Given the description of an element on the screen output the (x, y) to click on. 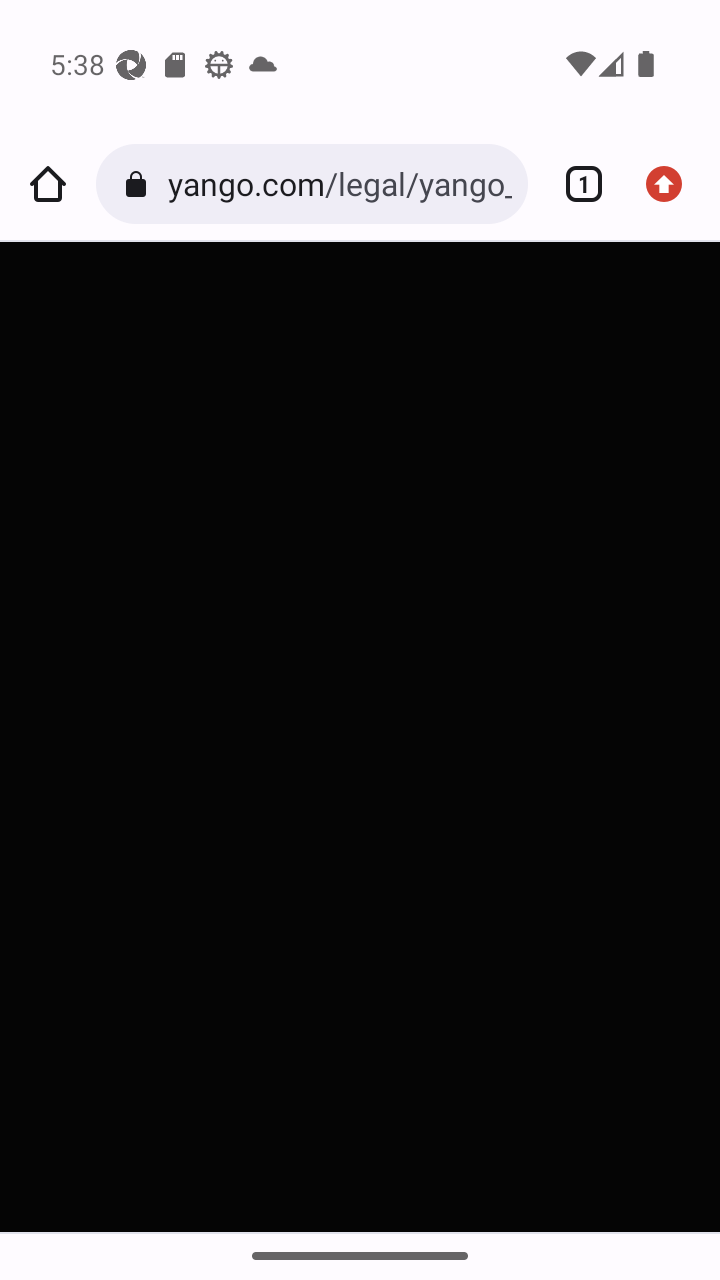
Home (47, 184)
Connection is secure (139, 184)
Switch or close tabs (575, 184)
Update available. More options (672, 184)
yango.com/legal/yango_mobile_agreement/?lang%3Den (339, 184)
